Given the description of an element on the screen output the (x, y) to click on. 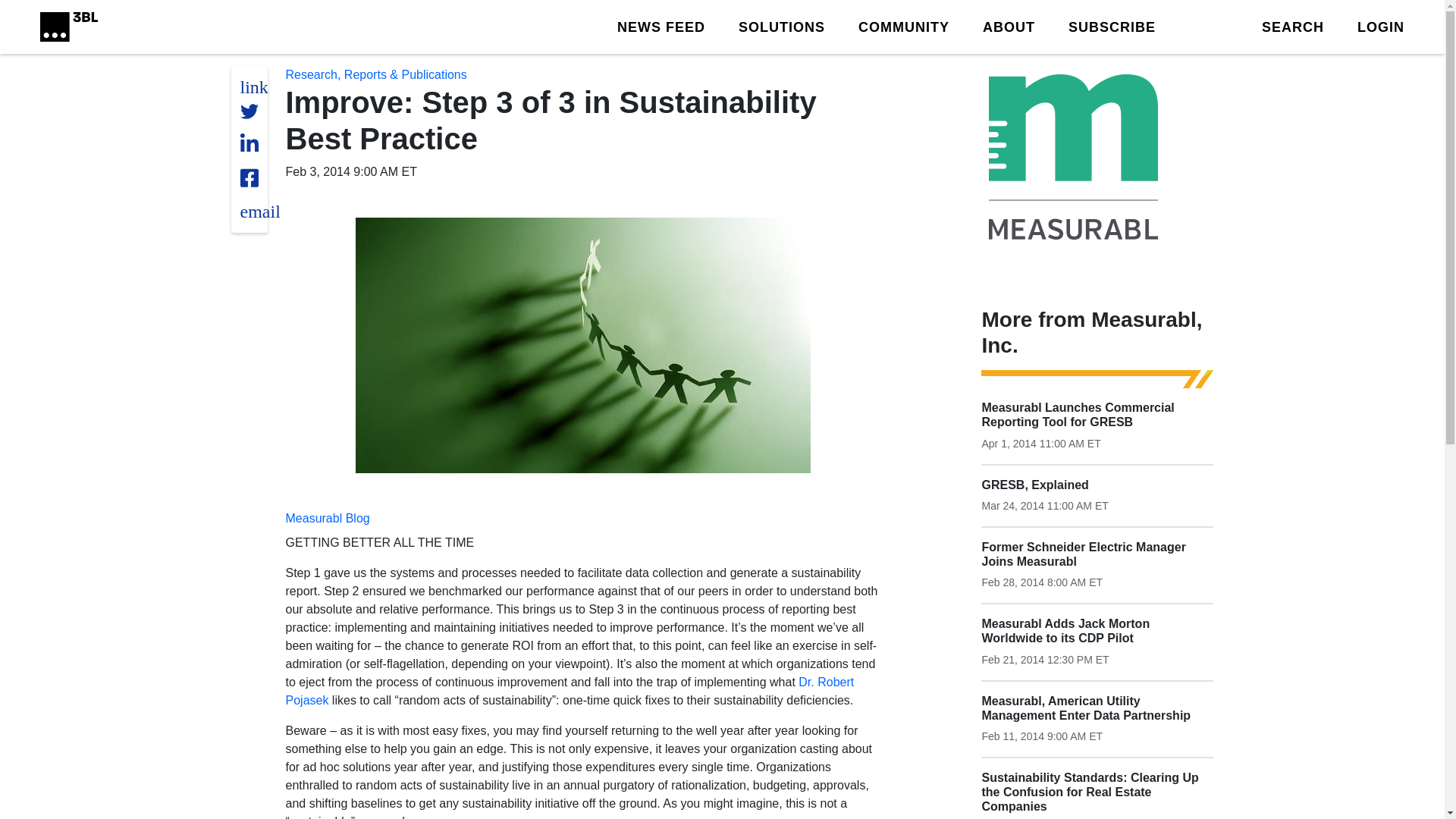
COMMUNITY (904, 26)
link to 3 B L Media's Twitter (253, 87)
ABOUT (1008, 26)
Share via email (259, 211)
SOLUTIONS (781, 26)
SUBSCRIBE (1112, 26)
NEWS FEED (660, 26)
